Given the description of an element on the screen output the (x, y) to click on. 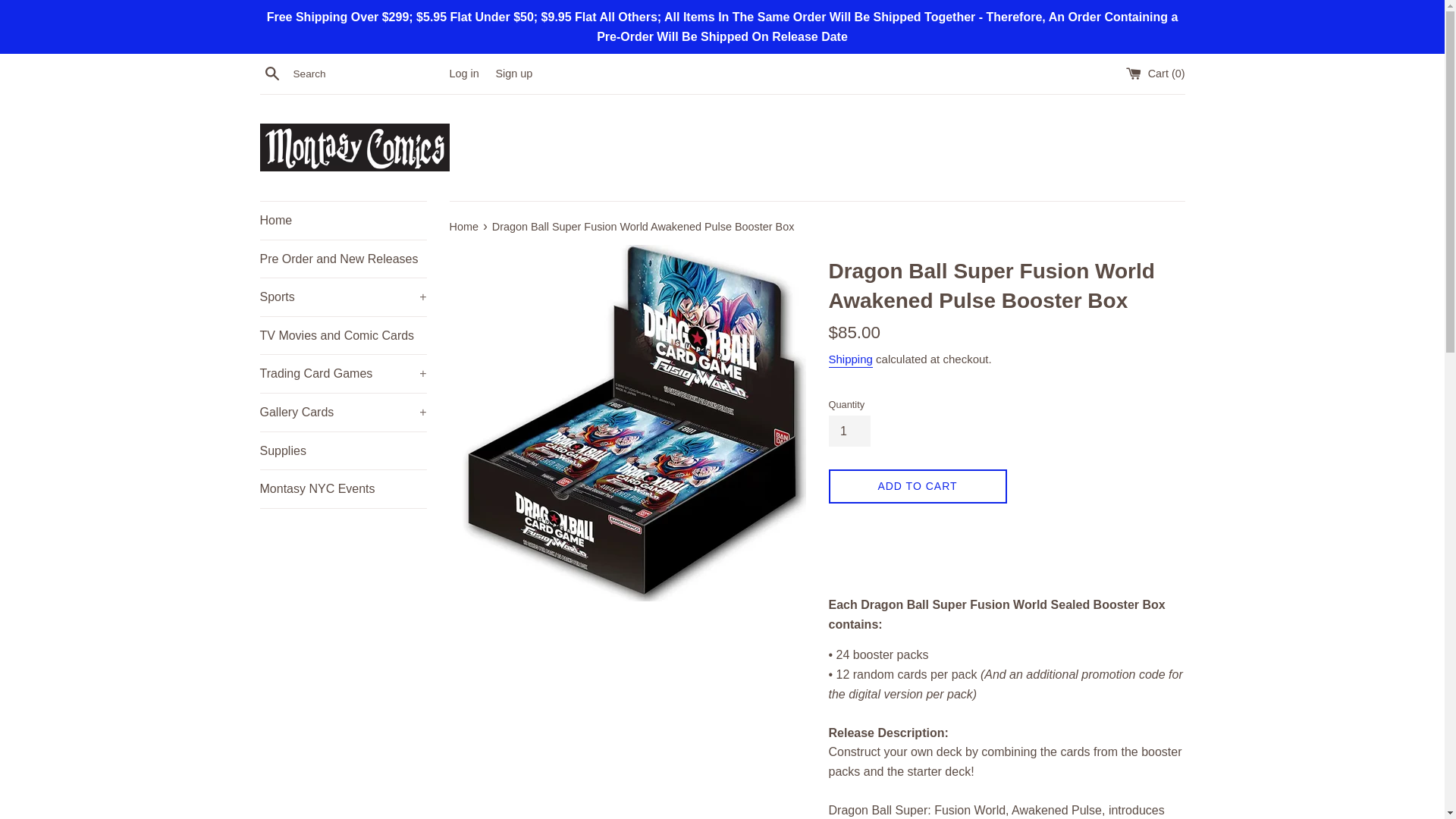
ADD TO CART (917, 486)
Pre Order and New Releases (342, 259)
Log in (463, 73)
Search (271, 73)
Home (464, 226)
1 (848, 431)
Home (342, 220)
TV Movies and Comic Cards (342, 335)
Back to the frontpage (464, 226)
Supplies (342, 451)
